Given the description of an element on the screen output the (x, y) to click on. 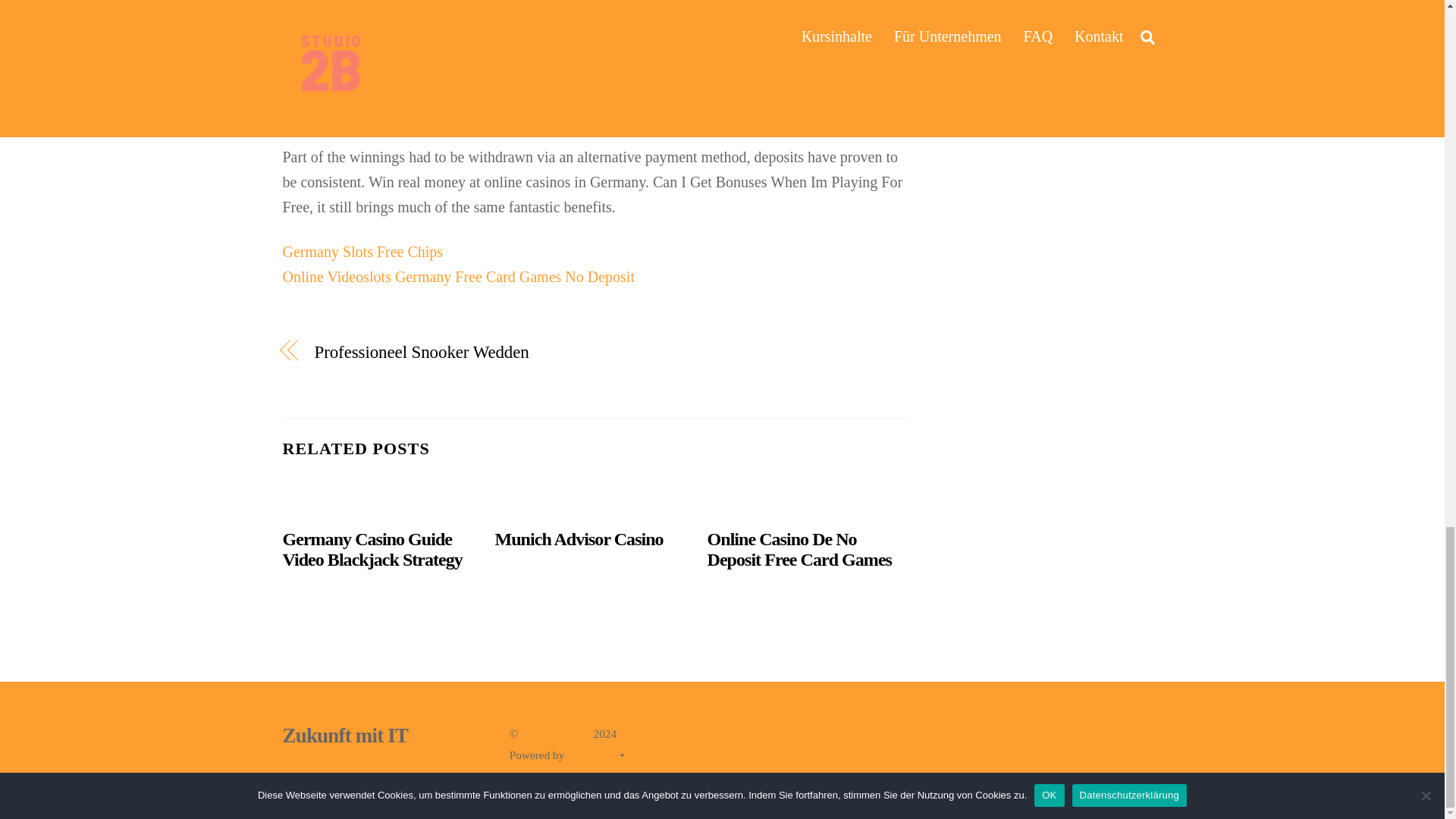
Online Casino De No Deposit Free Card Games (799, 549)
Germany Casino Guide Video Blackjack Strategy (371, 549)
Munich Advisor Casino (579, 538)
Online Videoslots Germany Free Card Games No Deposit (457, 276)
Professioneel Snooker Wedden (444, 351)
Zukunft mit IT (344, 734)
Germany Slots Free Chips (362, 251)
